Given the description of an element on the screen output the (x, y) to click on. 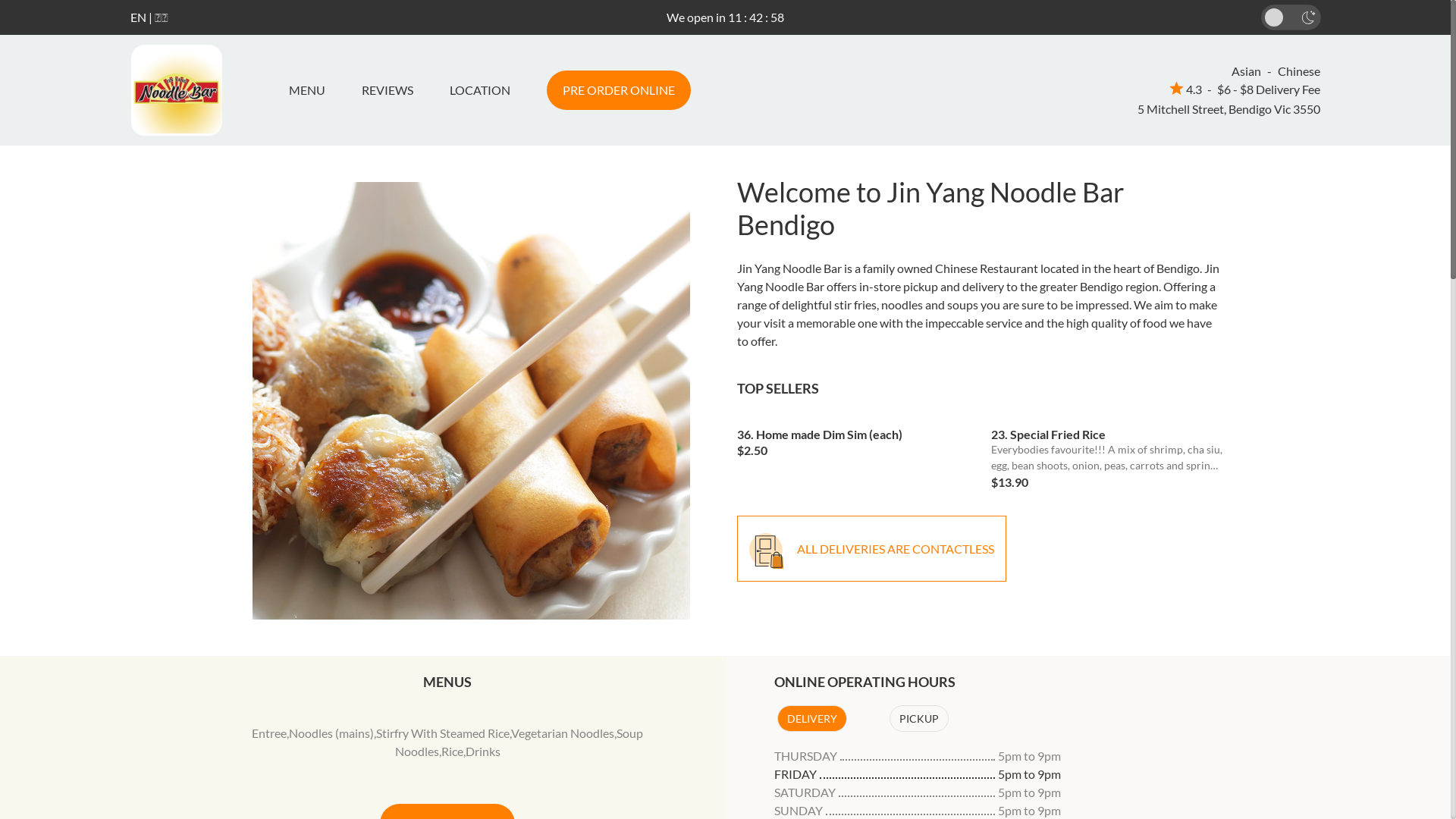
Vegetarian Noodles Element type: text (562, 732)
Noodles (mains) Element type: text (330, 732)
PICKUP Element type: text (917, 718)
REVIEWS Element type: text (386, 90)
Stirfry With Steamed Rice Element type: text (442, 732)
36. Home made Dim Sim (each)
$2.50 Element type: text (853, 437)
Soup Noodles Element type: text (519, 741)
DELIVERY Element type: text (811, 718)
LOCATION Element type: text (478, 90)
Entree Element type: text (268, 732)
PRE ORDER ONLINE Element type: text (618, 89)
Rice Element type: text (452, 750)
4.3 Element type: text (1185, 88)
MENU Element type: text (312, 90)
EN Element type: text (138, 16)
Drinks Element type: text (482, 750)
